Given the description of an element on the screen output the (x, y) to click on. 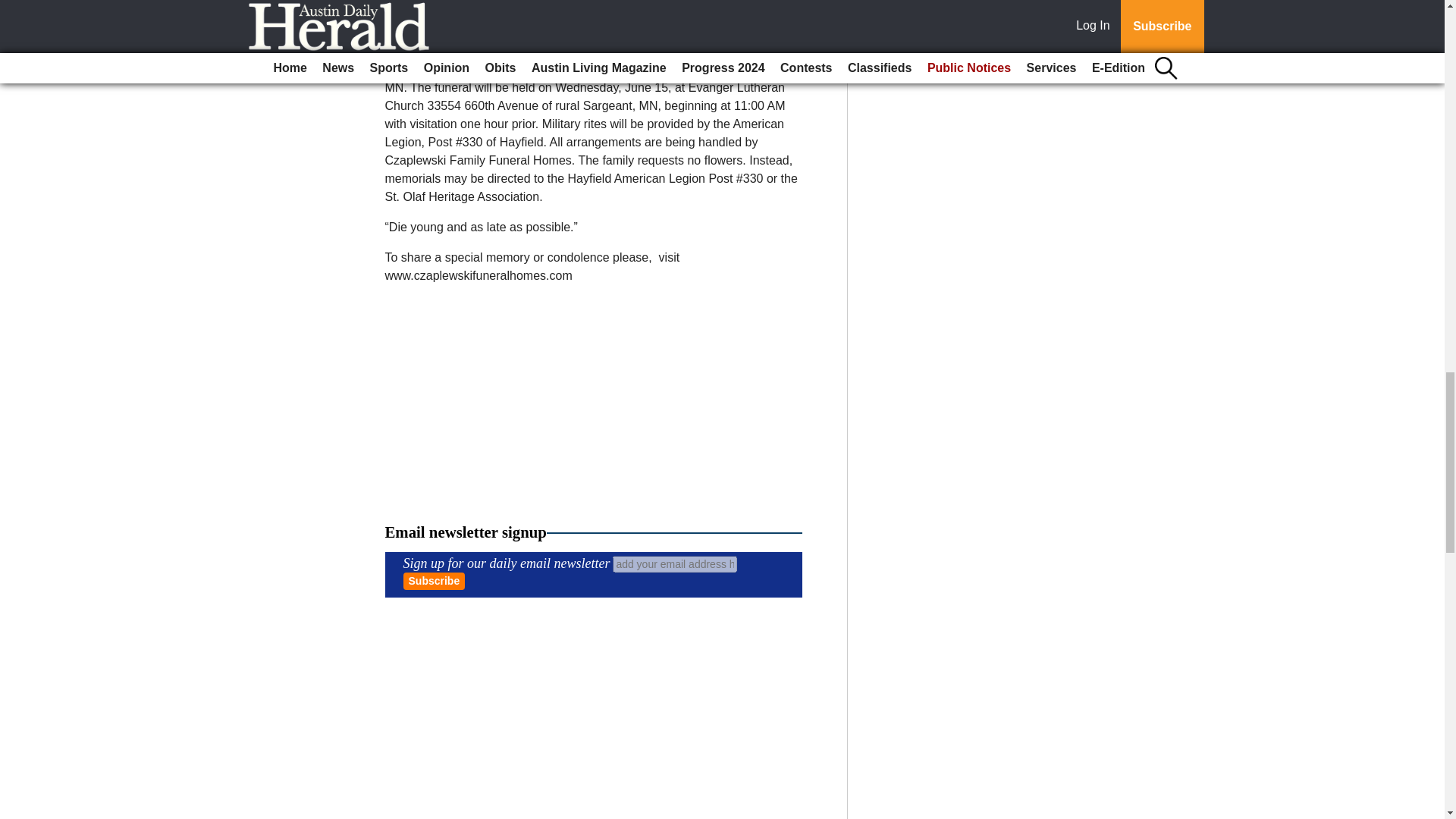
Subscribe (434, 580)
